Given the description of an element on the screen output the (x, y) to click on. 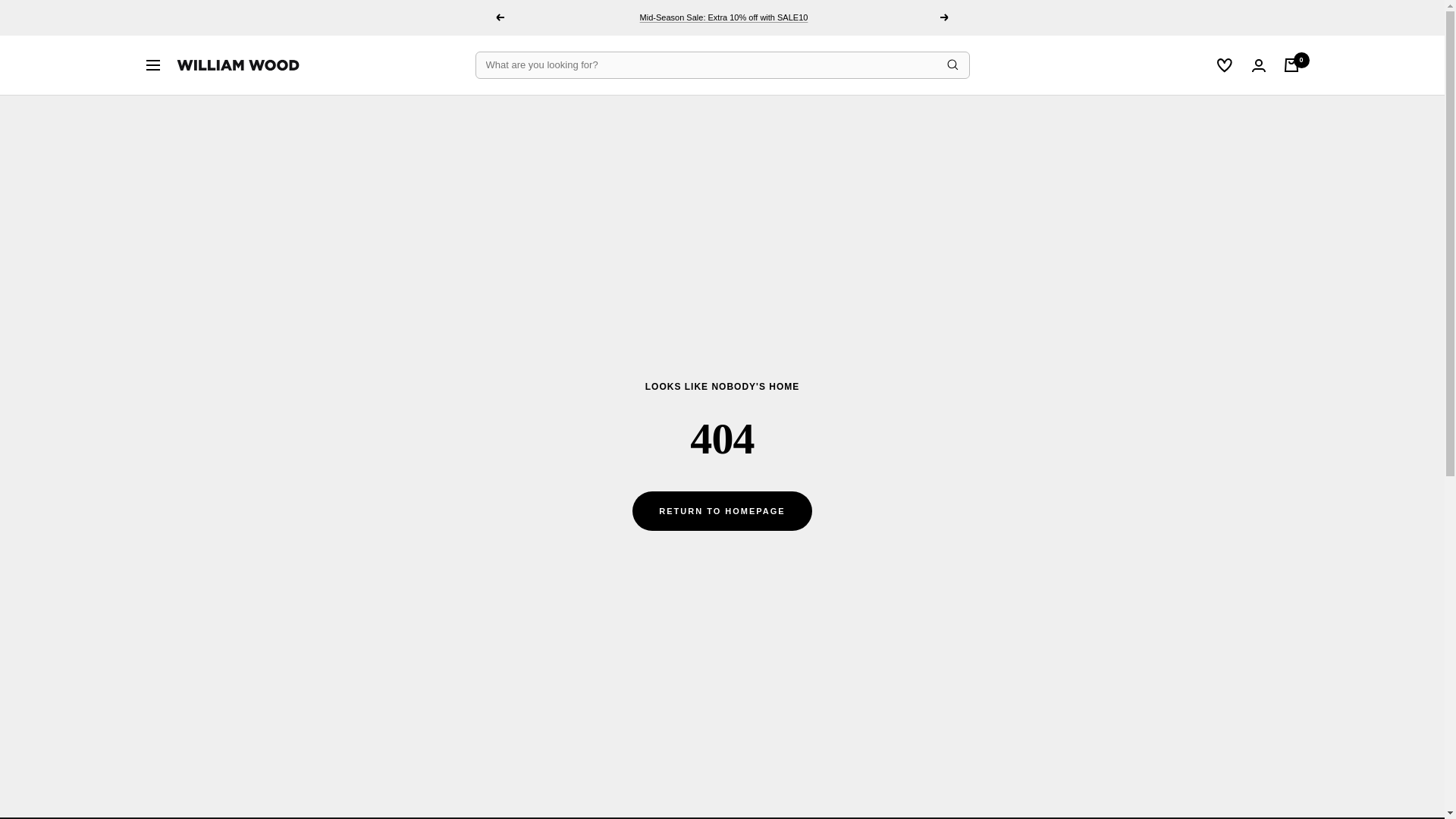
Next (944, 17)
Previous (499, 17)
0 (1290, 65)
WILLIAM WOOD (237, 64)
RETURN TO HOMEPAGE (720, 510)
Navigation (151, 64)
